Given the description of an element on the screen output the (x, y) to click on. 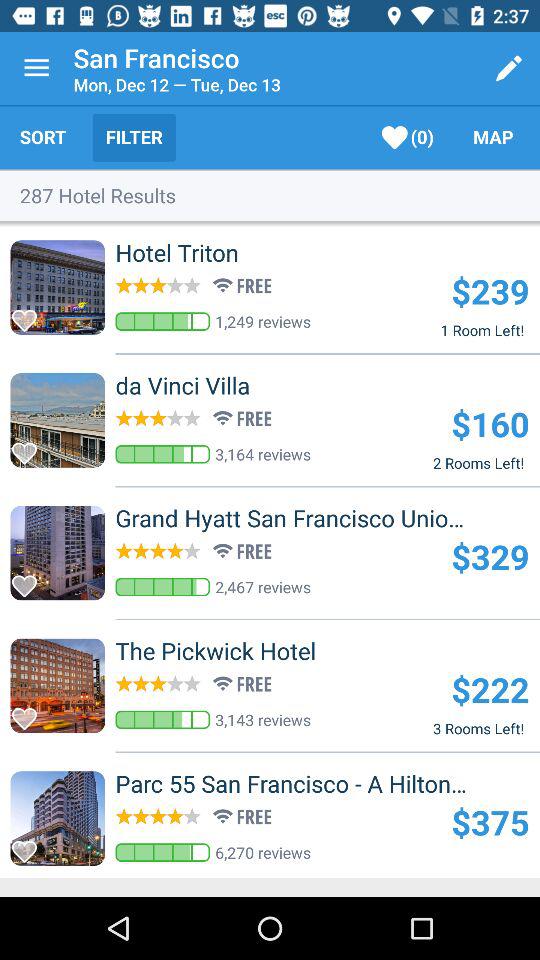
click 2,467 reviews item (263, 586)
